Given the description of an element on the screen output the (x, y) to click on. 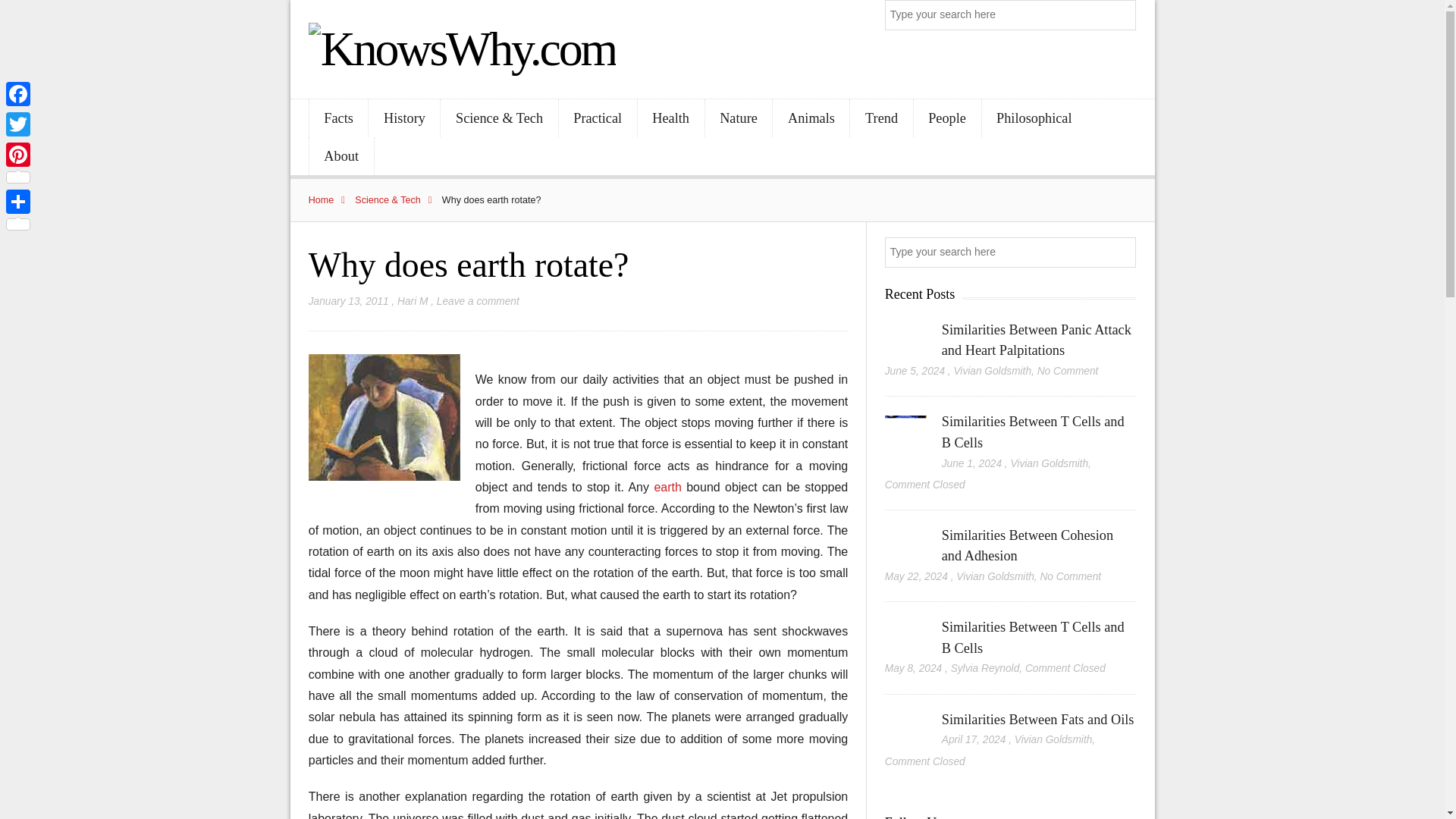
Posts by Hari M (412, 301)
People (947, 118)
Leave a comment (477, 301)
earth (669, 486)
Trend (881, 118)
Facts (338, 118)
WHY IS THE EARTH ROUND? (669, 486)
Why? (384, 416)
Nature (738, 118)
Animals (810, 118)
